Given the description of an element on the screen output the (x, y) to click on. 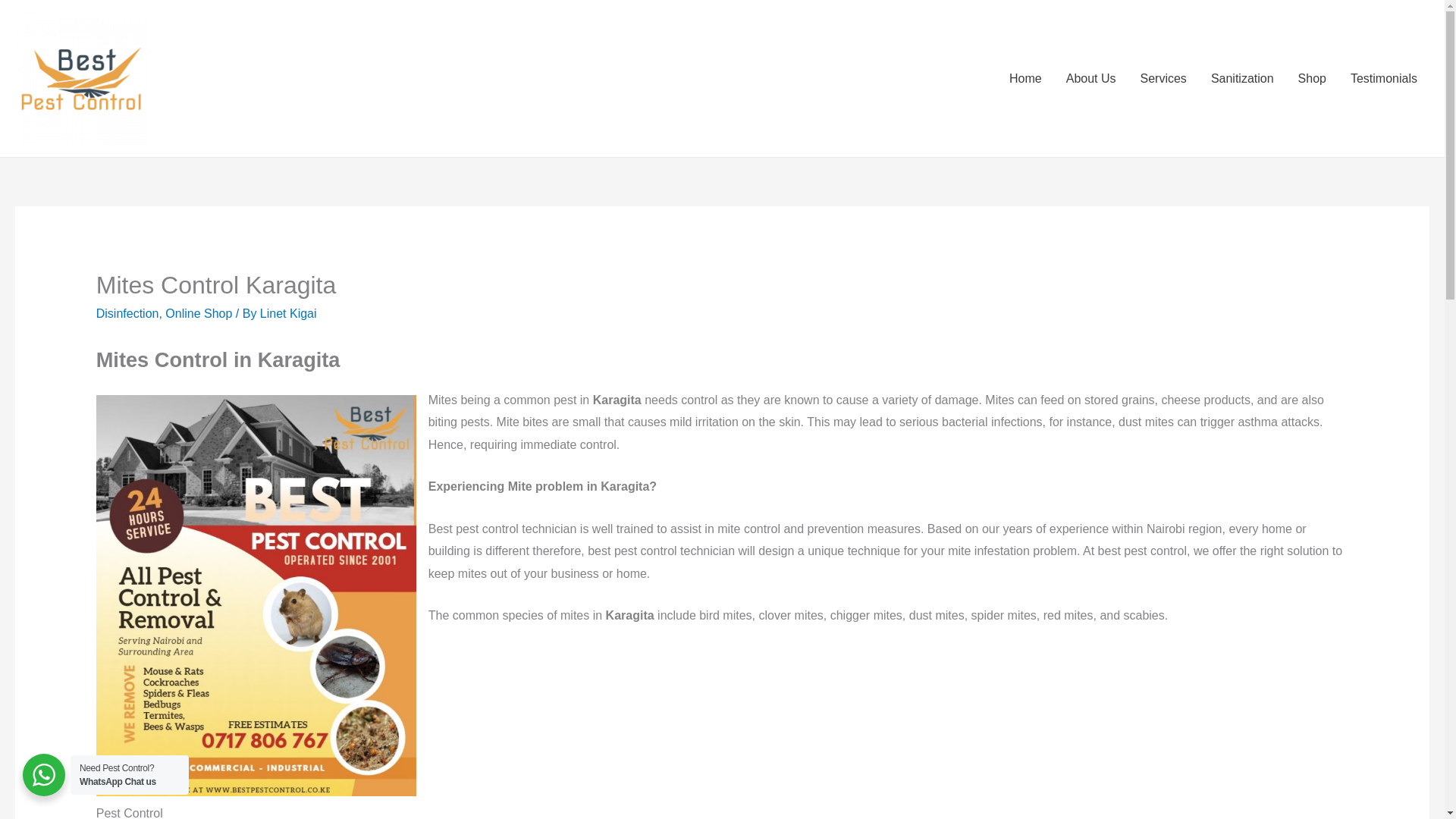
Disinfection (127, 313)
Online Shop (198, 313)
View all posts by Linet Kigai (288, 313)
Linet Kigai (288, 313)
